Given the description of an element on the screen output the (x, y) to click on. 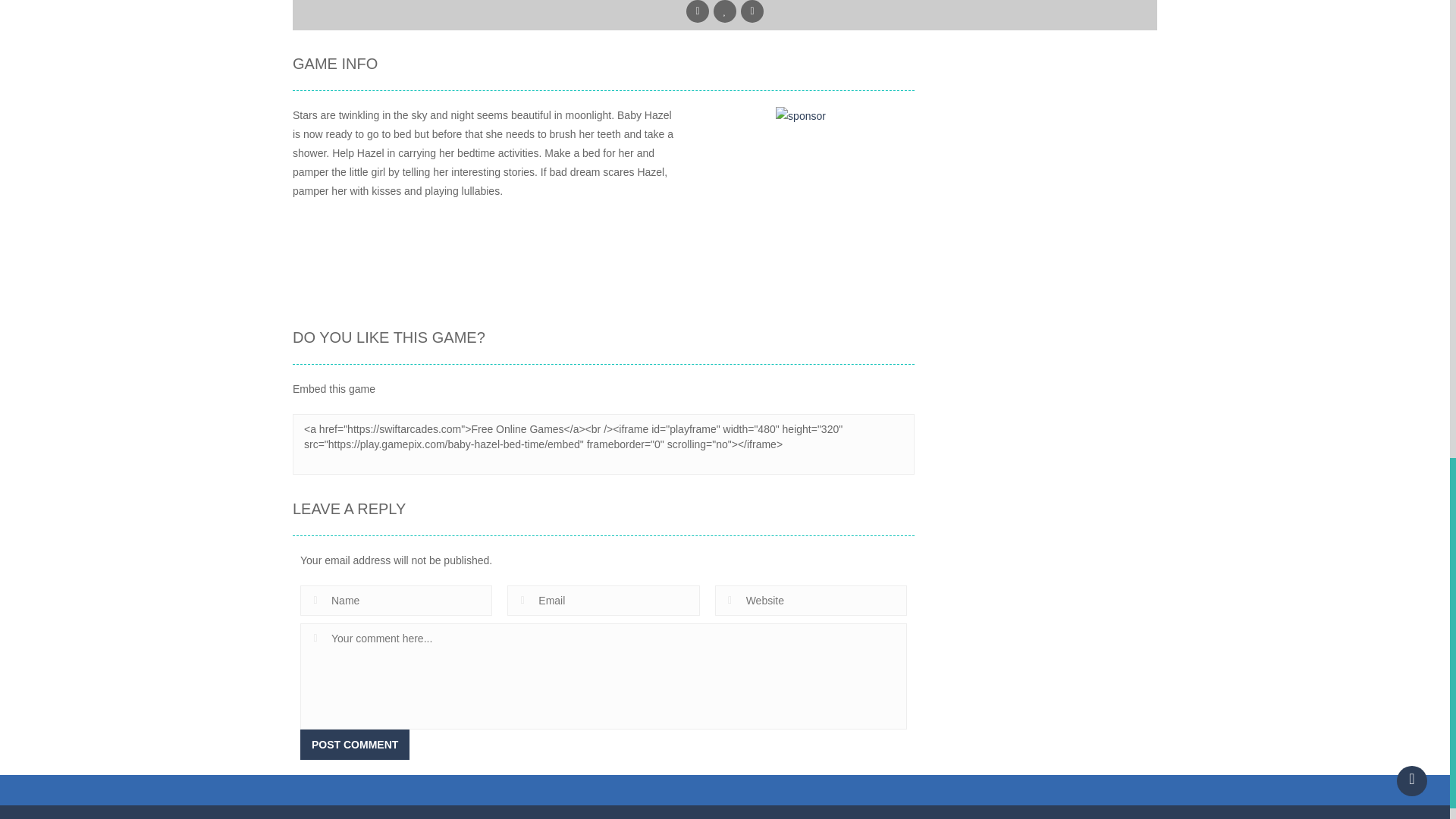
Post Comment (354, 744)
